Given the description of an element on the screen output the (x, y) to click on. 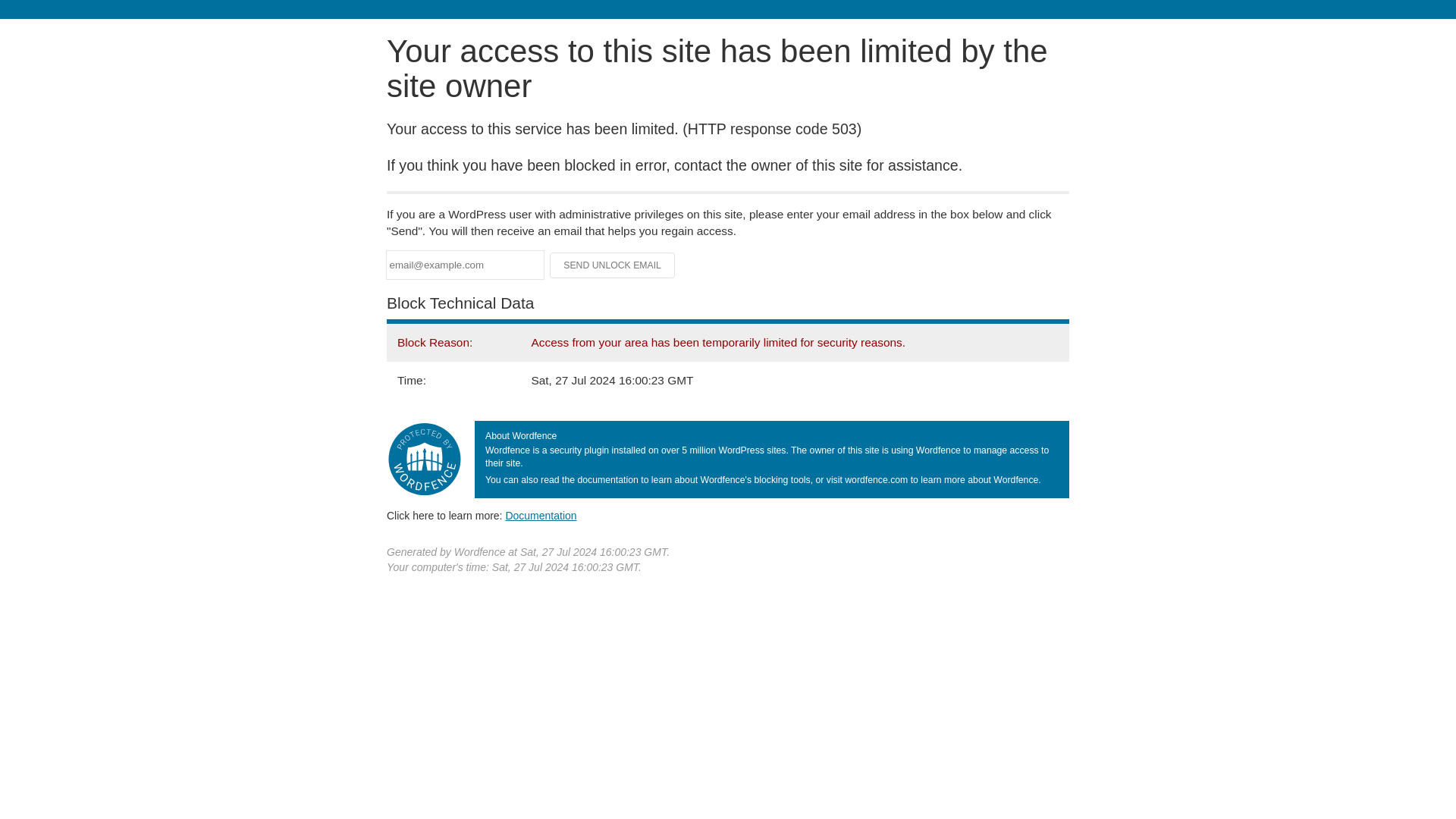
Send Unlock Email (612, 265)
Documentation (540, 515)
Send Unlock Email (612, 265)
